Given the description of an element on the screen output the (x, y) to click on. 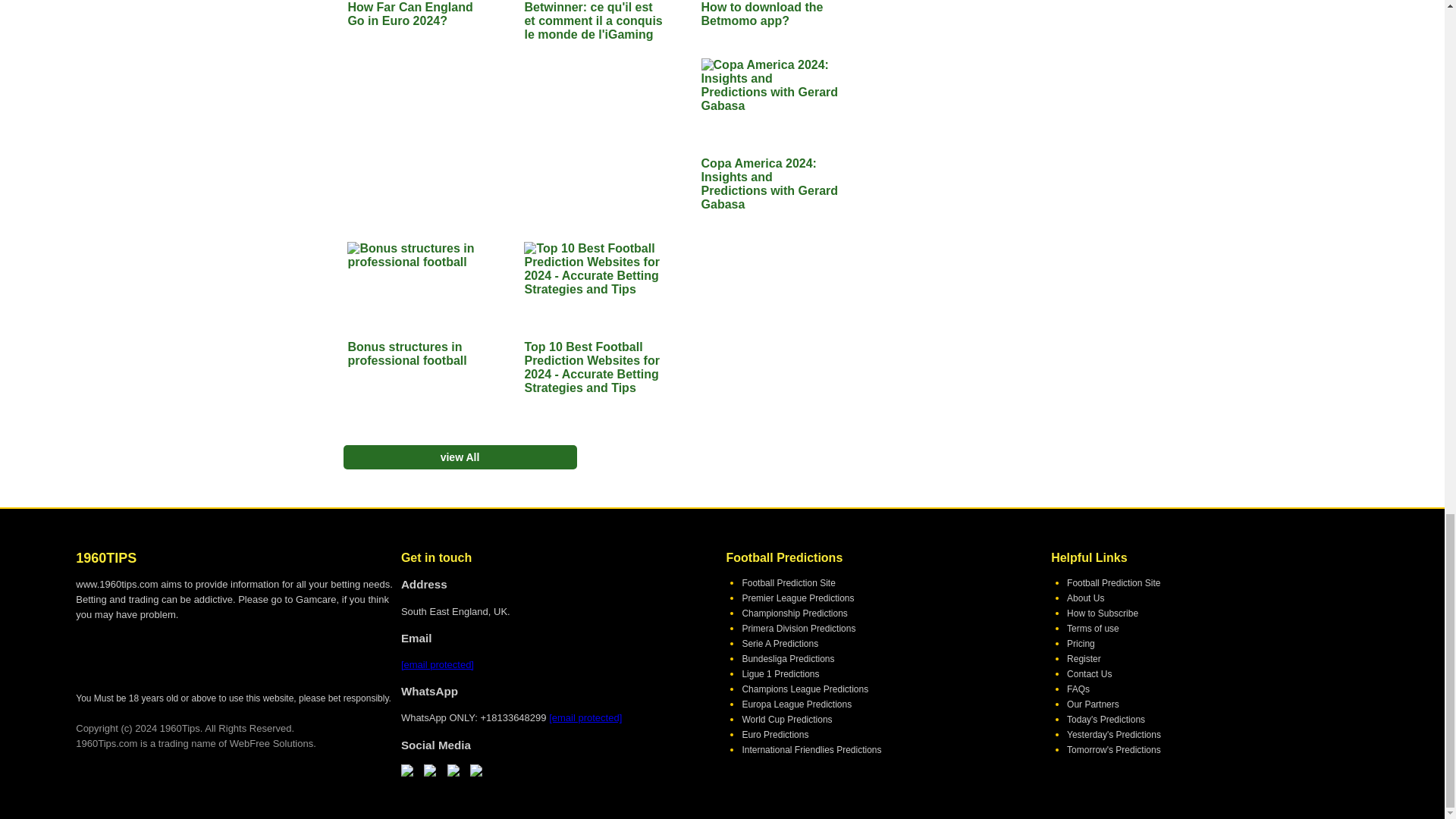
Bonus structures in professional football (417, 304)
Contact Us (1089, 674)
Telegram (475, 772)
Championship Predictions (794, 613)
Twitter (407, 772)
Today's Predictions (1105, 719)
view All (459, 457)
Terms of use (1093, 628)
Register (1083, 658)
Primera Division Predictions (798, 628)
Football Prediction Site (1113, 583)
How to download the Betmomo app? (771, 18)
Football Prediction Site (787, 583)
Yesterday's Predictions (1113, 734)
